Given the description of an element on the screen output the (x, y) to click on. 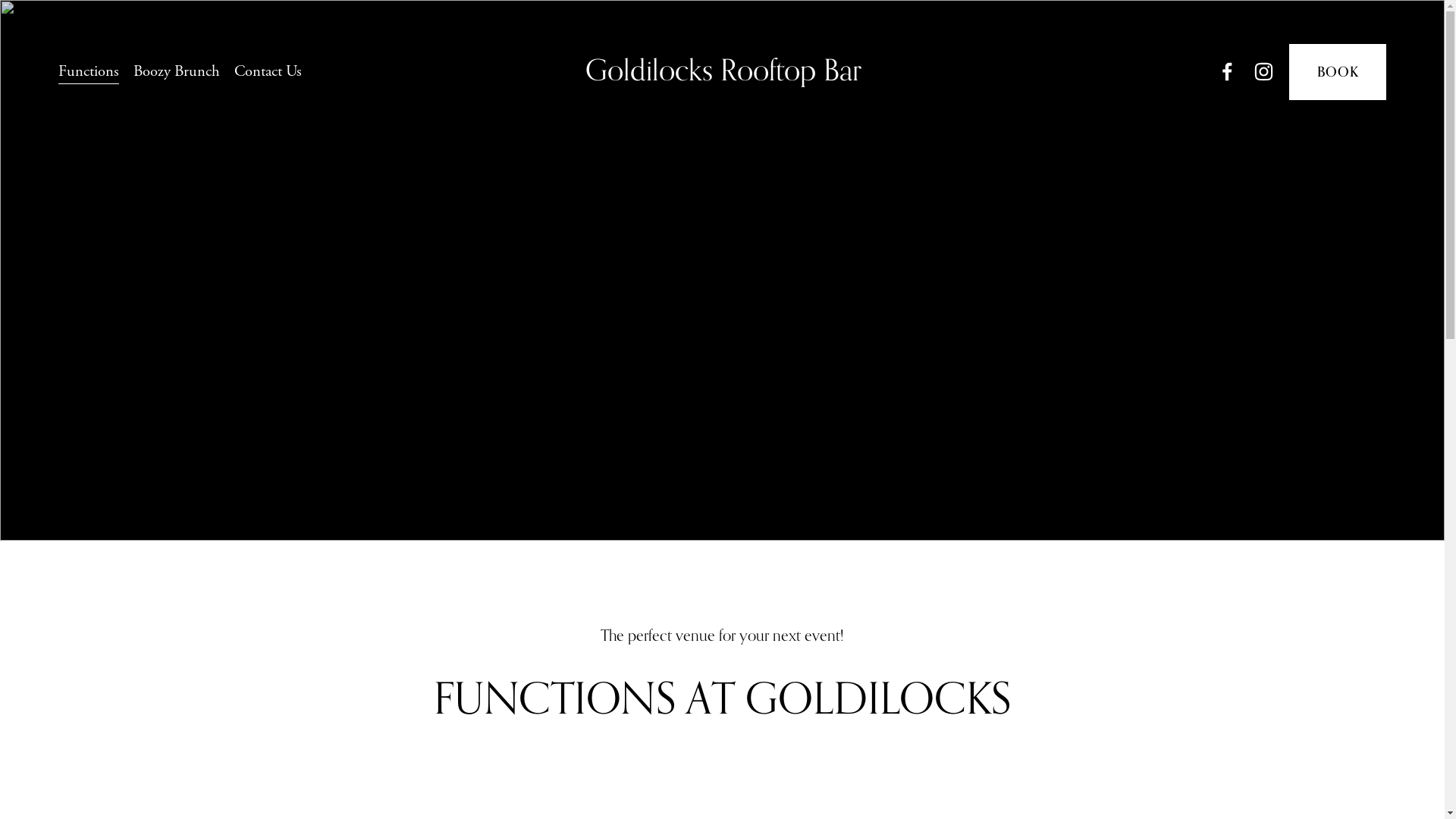
Boozy Brunch Element type: text (176, 71)
Functions Element type: text (88, 71)
Contact Us Element type: text (267, 71)
Goldilocks Rooftop Bar Element type: text (723, 70)
BOOK Element type: text (1337, 71)
